Given the description of an element on the screen output the (x, y) to click on. 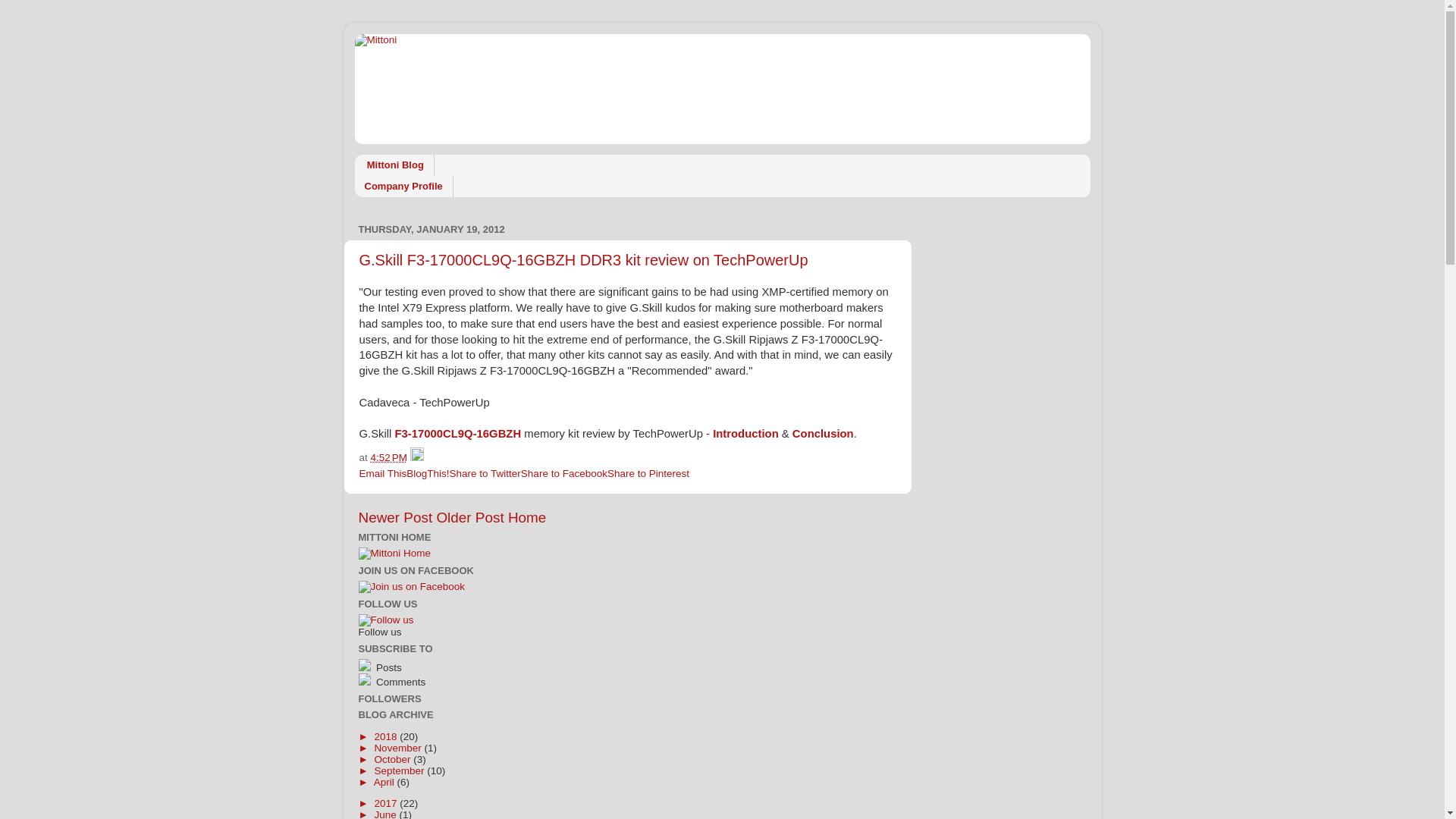
Share to Facebook Element type: text (563, 473)
Home Element type: text (527, 517)
Posts Element type: text (452, 665)
F3-17000CL9Q-16GBZH Element type: text (458, 433)
Comments Element type: text (452, 680)
October Element type: text (393, 759)
Edit Post Element type: hover (416, 457)
Email This Element type: text (383, 473)
Share to Pinterest Element type: text (648, 473)
Introduction Element type: text (745, 433)
BlogThis! Element type: text (427, 473)
2018 Element type: text (386, 736)
September Element type: text (399, 769)
Conclusion Element type: text (822, 433)
Comments Element type: text (399, 681)
G.Skill F3-17000CL9Q-16GBZH DDR3 kit review on TechPowerUp Element type: text (583, 259)
April Element type: text (385, 781)
Older Post Element type: text (469, 517)
Newer Post Element type: text (394, 517)
2017 Element type: text (386, 803)
Posts Element type: text (387, 667)
Mittoni Blog Element type: text (394, 164)
November Element type: text (398, 747)
Share to Twitter Element type: text (484, 473)
Company Profile Element type: text (403, 186)
